Given the description of an element on the screen output the (x, y) to click on. 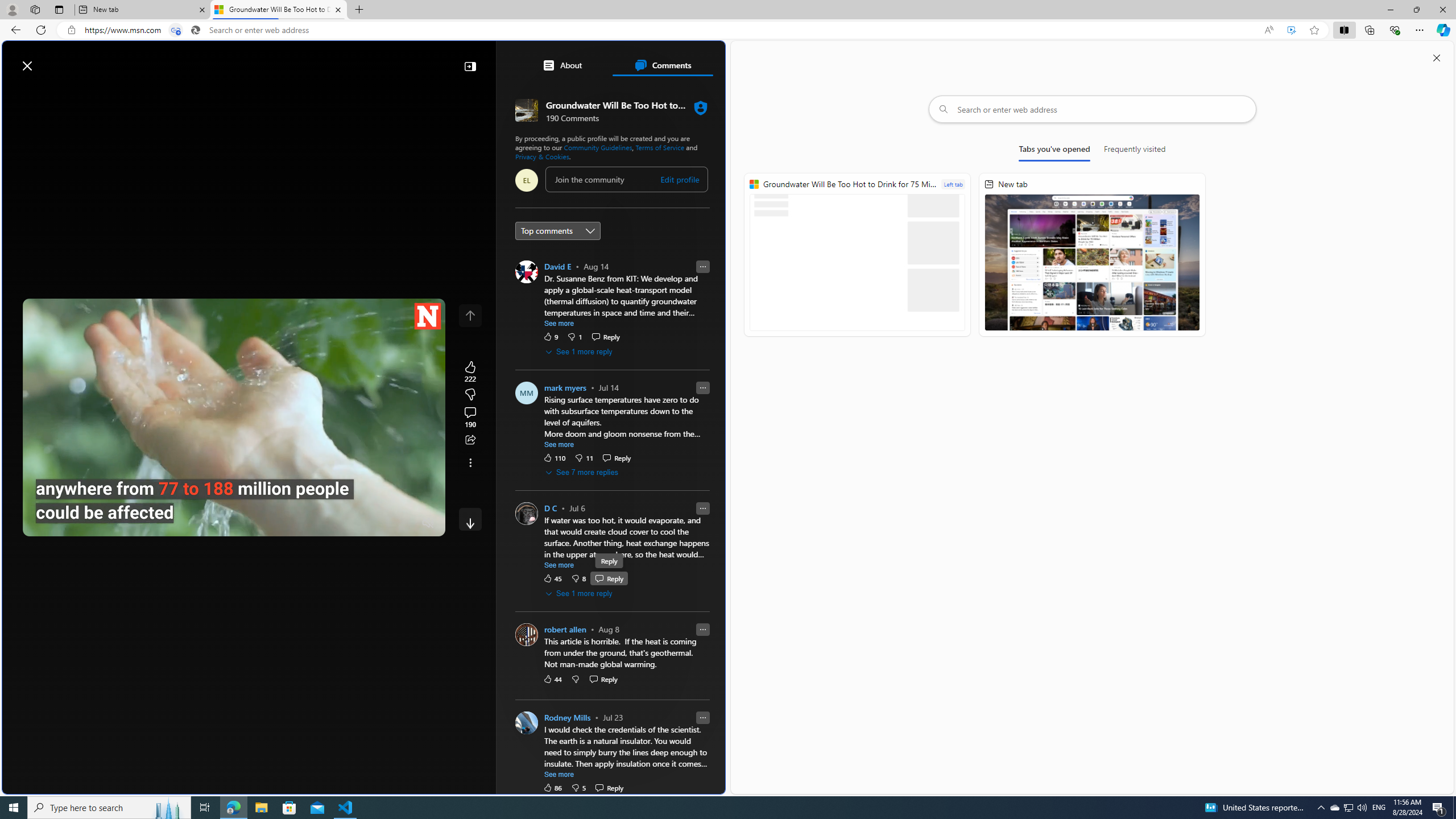
View comments 190 Comment (469, 417)
ABC News (554, 415)
See 7 more replies (582, 472)
Share this story (469, 440)
Profile Picture (526, 722)
Reply Reply Comment (608, 787)
Custom Personal Discounts (616, 571)
Skip to footer (46, 59)
Report comment (702, 716)
Comments (662, 64)
